Given the description of an element on the screen output the (x, y) to click on. 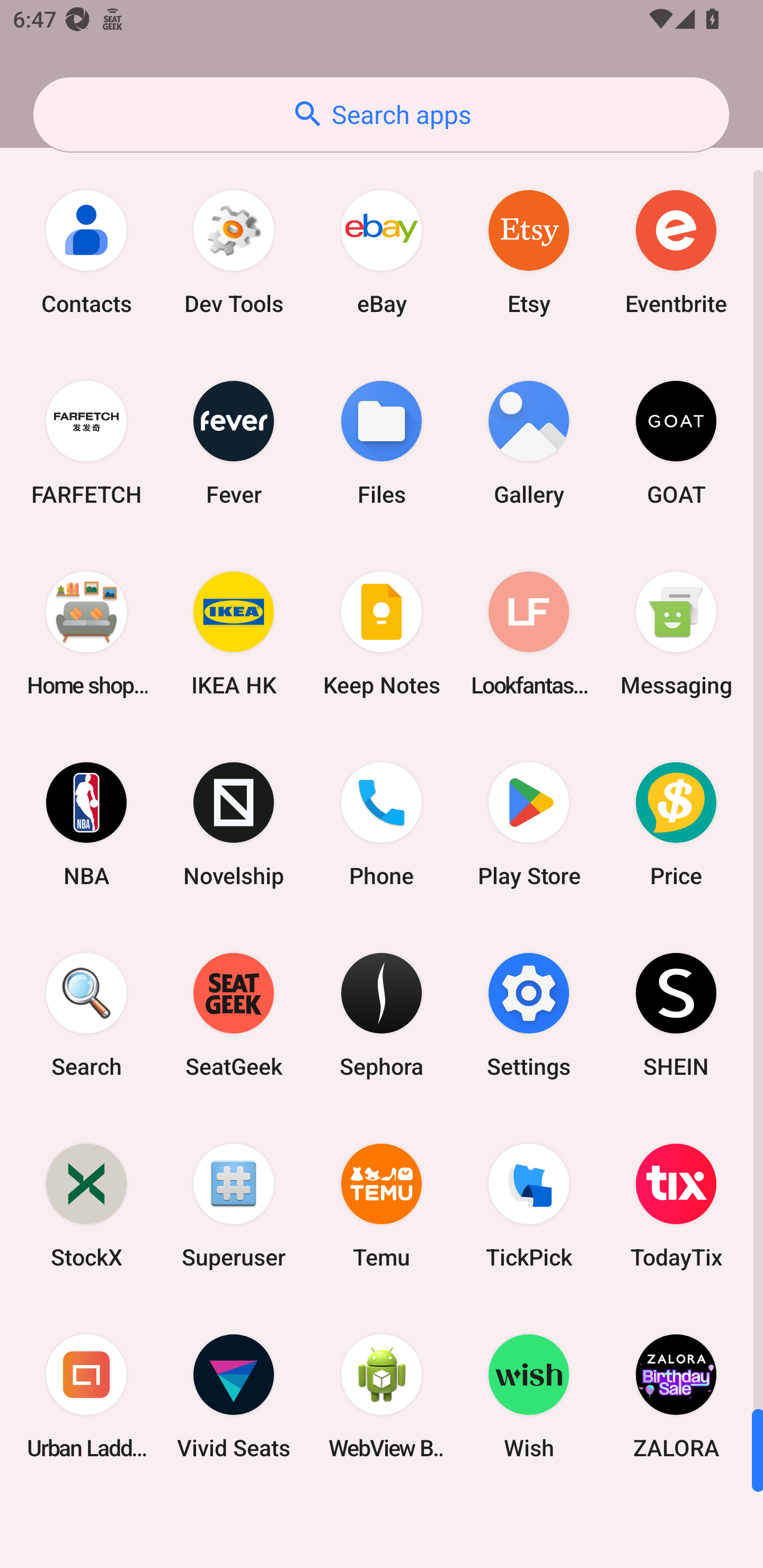
  Search apps (381, 114)
Contacts (86, 252)
Dev Tools (233, 252)
eBay (381, 252)
Etsy (528, 252)
Eventbrite (676, 252)
FARFETCH (86, 442)
Fever (233, 442)
Files (381, 442)
Gallery (528, 442)
GOAT (676, 442)
Home shopping (86, 633)
IKEA HK (233, 633)
Keep Notes (381, 633)
Lookfantastic (528, 633)
Messaging (676, 633)
NBA (86, 823)
Novelship (233, 823)
Phone (381, 823)
Play Store (528, 823)
Price (676, 823)
Search (86, 1014)
SeatGeek (233, 1014)
Sephora (381, 1014)
Settings (528, 1014)
SHEIN (676, 1014)
StockX (86, 1205)
Superuser (233, 1205)
Temu (381, 1205)
TickPick (528, 1205)
TodayTix (676, 1205)
Urban Ladder (86, 1396)
Vivid Seats (233, 1396)
WebView Browser Tester (381, 1396)
Wish (528, 1396)
ZALORA (676, 1396)
